Given the description of an element on the screen output the (x, y) to click on. 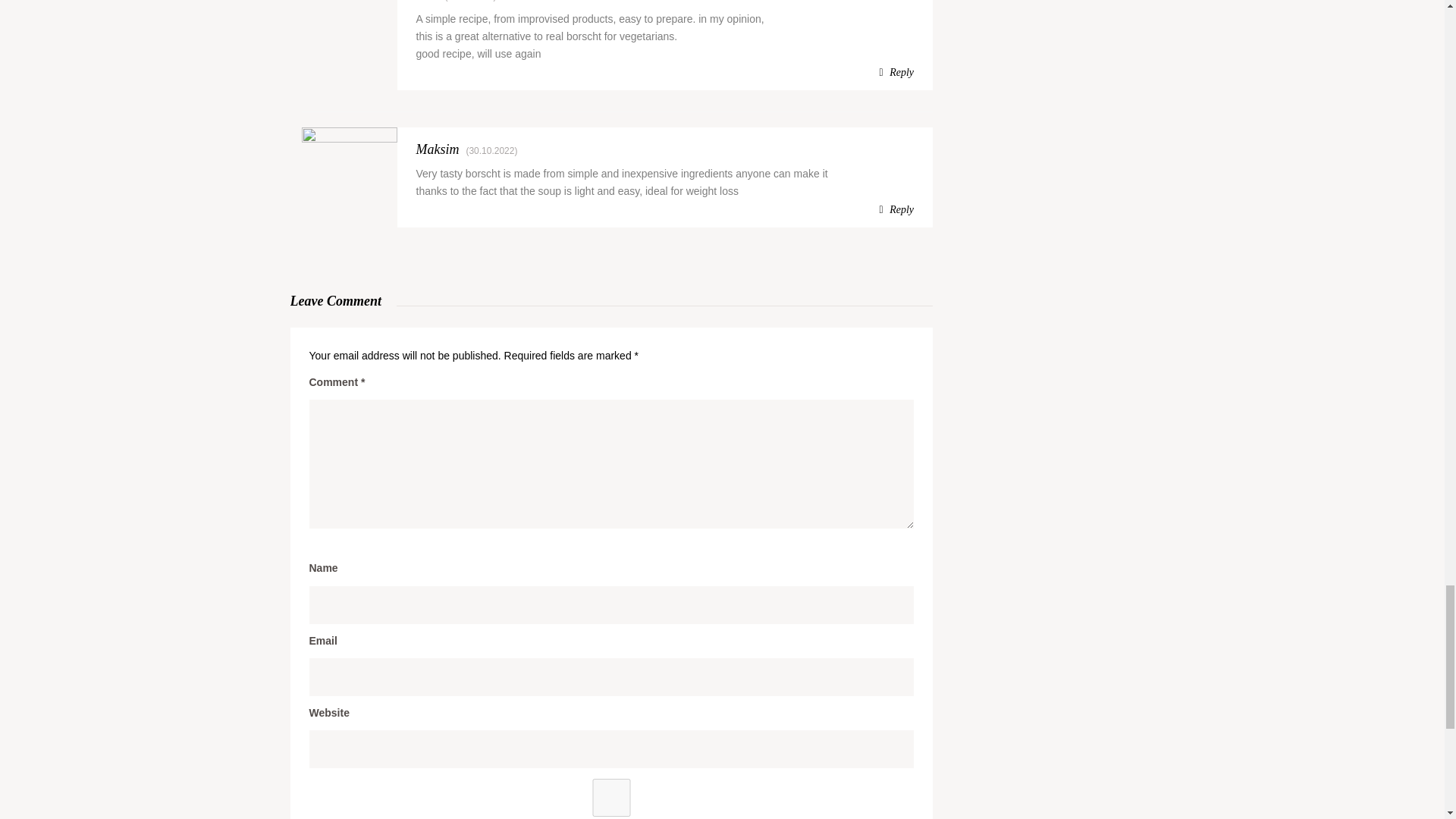
Reply (896, 72)
yes (611, 797)
Reply (896, 209)
